Given the description of an element on the screen output the (x, y) to click on. 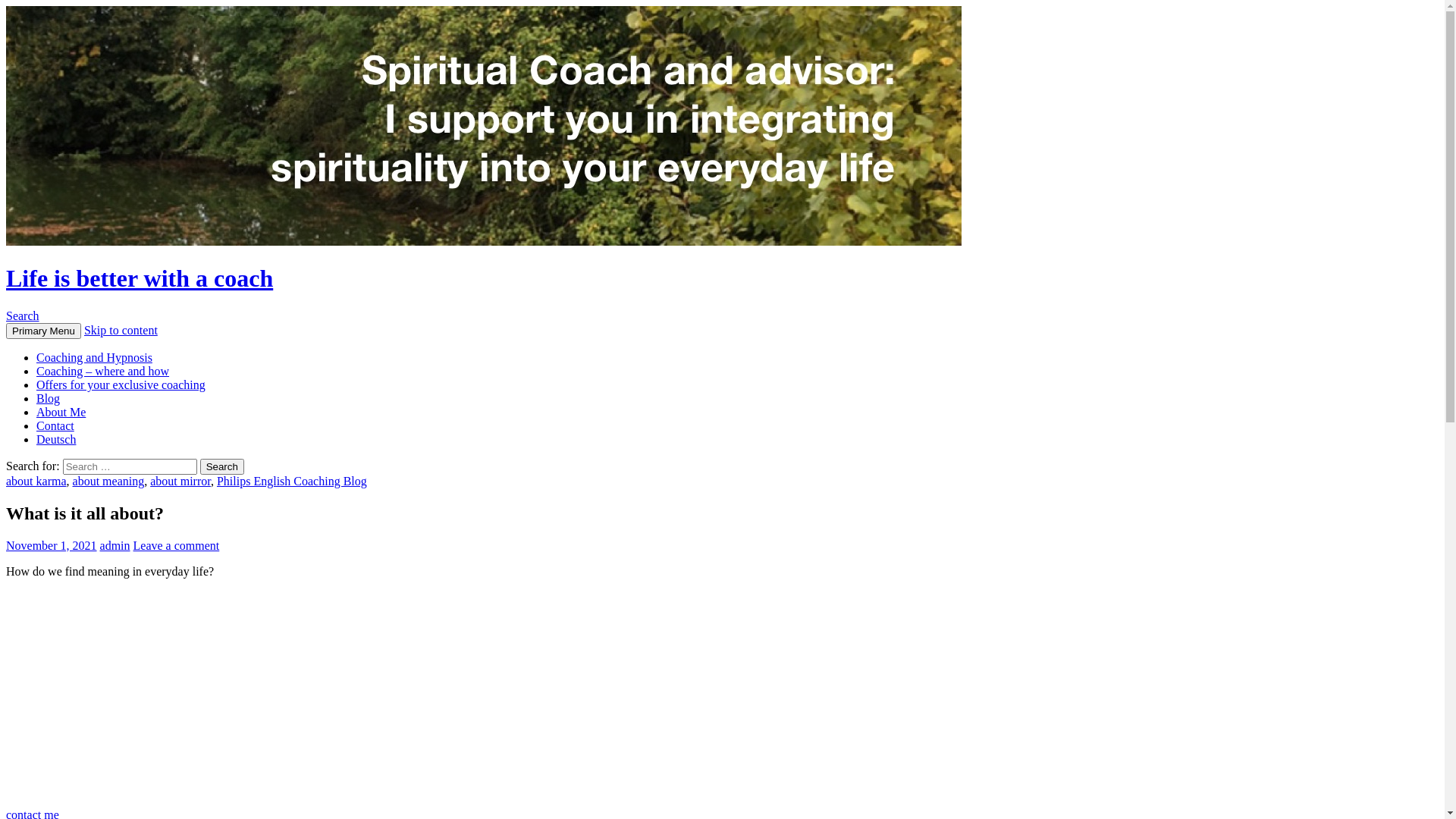
Leave a comment Element type: text (176, 545)
about meaning Element type: text (108, 480)
Search Element type: text (22, 315)
Life is better with a coach Element type: text (139, 277)
Primary Menu Element type: text (43, 330)
Blog Element type: text (47, 398)
Philips English Coaching Blog Element type: text (291, 480)
Deutsch Element type: text (55, 439)
What is it all about? Element type: hover (215, 691)
About Me Element type: text (60, 411)
Coaching and Hypnosis Element type: text (94, 357)
Skip to content Element type: text (120, 329)
about mirror Element type: text (180, 480)
November 1, 2021 Element type: text (51, 545)
Contact Element type: text (55, 425)
admin Element type: text (115, 545)
Search Element type: text (222, 466)
Offers for your exclusive coaching Element type: text (120, 384)
about karma Element type: text (36, 480)
